Given the description of an element on the screen output the (x, y) to click on. 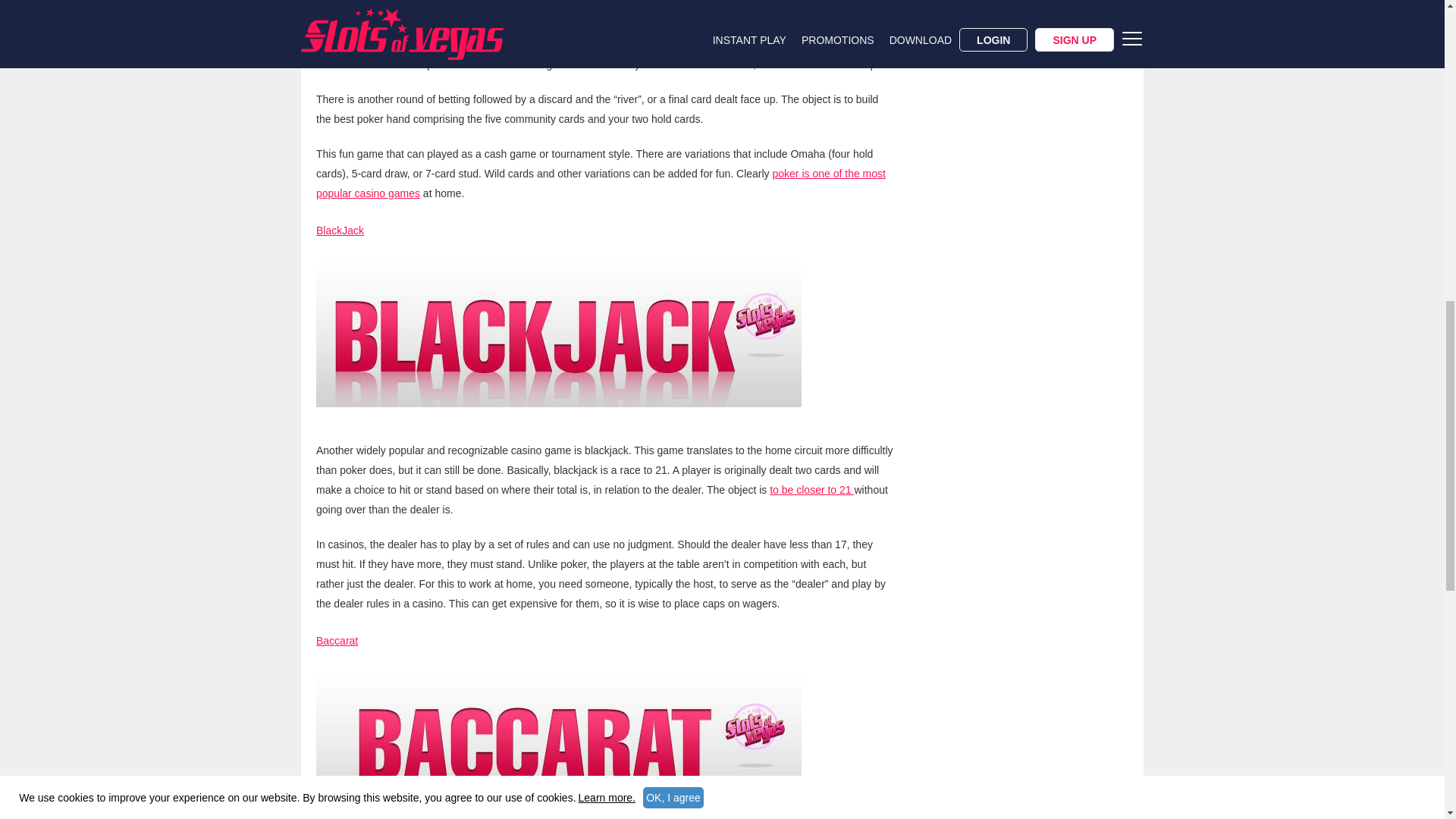
variations of poker (546, 5)
BlackJack (339, 230)
poker is one of the most popular casino games (600, 183)
to be closer to 21 (811, 490)
Baccarat (336, 640)
